Given the description of an element on the screen output the (x, y) to click on. 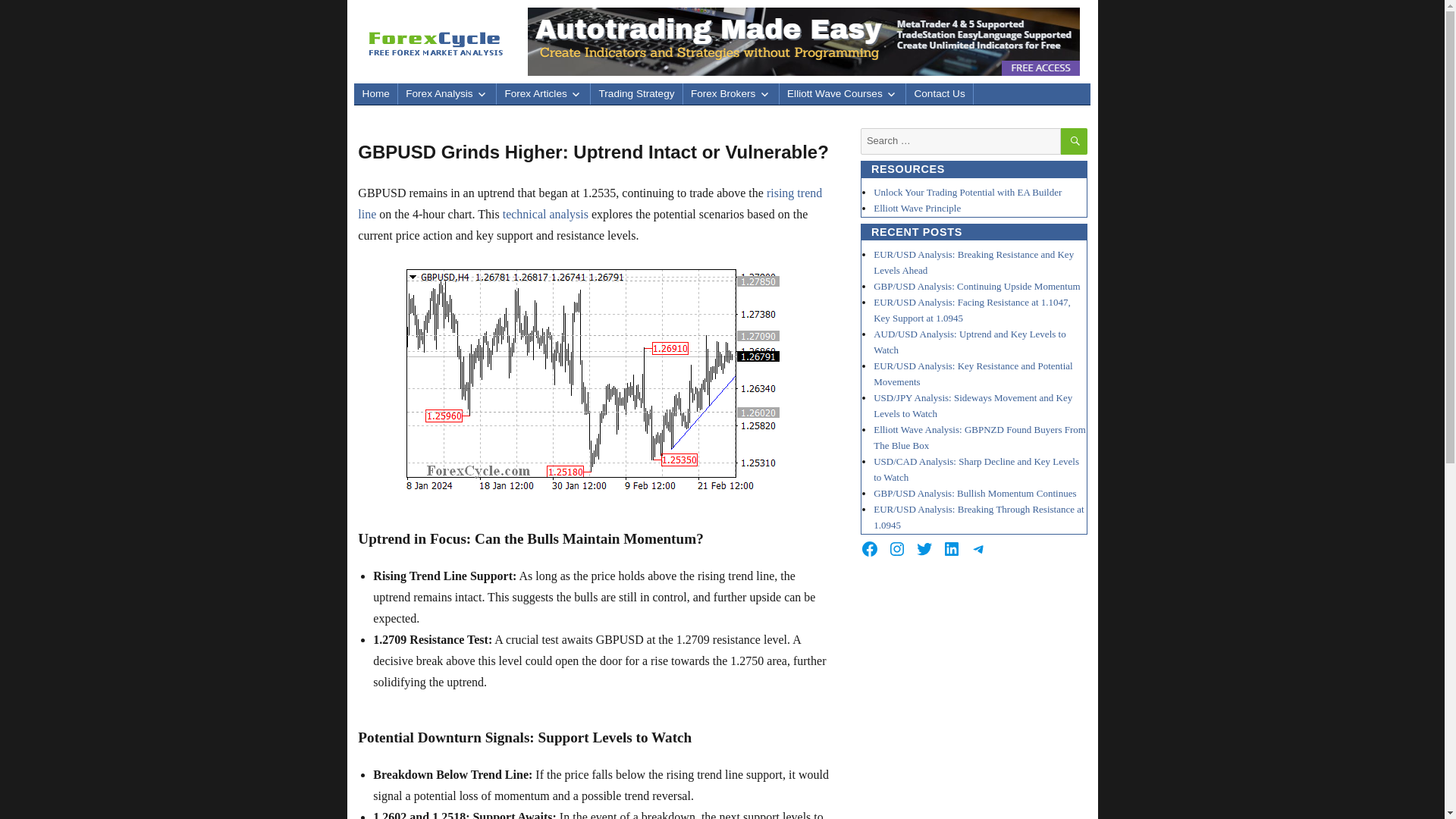
rising trend line (590, 203)
Forex Analysis (446, 93)
Trading Strategy (636, 93)
Contact Us (938, 93)
Elliott Wave Courses (841, 93)
Home (375, 93)
Forex Articles (542, 93)
Forex Brokers (730, 93)
